Given the description of an element on the screen output the (x, y) to click on. 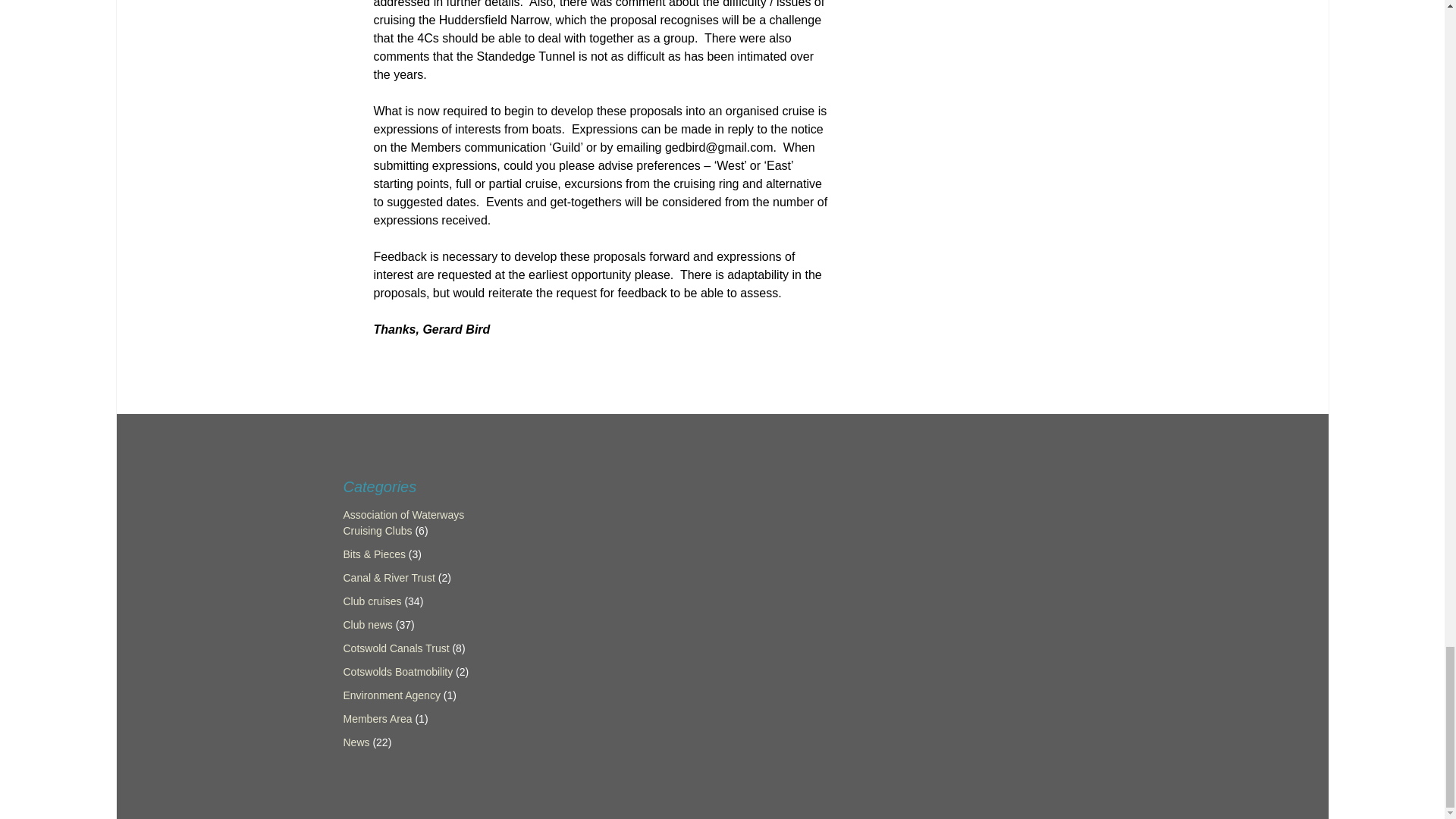
Association of Waterways Cruising Clubs (403, 522)
Club news (366, 624)
Members Area (377, 718)
Environment Agency (390, 695)
Cotswolds Boatmobility (397, 671)
News (355, 742)
Club cruises (371, 601)
Cotswold Canals Trust (395, 648)
